Given the description of an element on the screen output the (x, y) to click on. 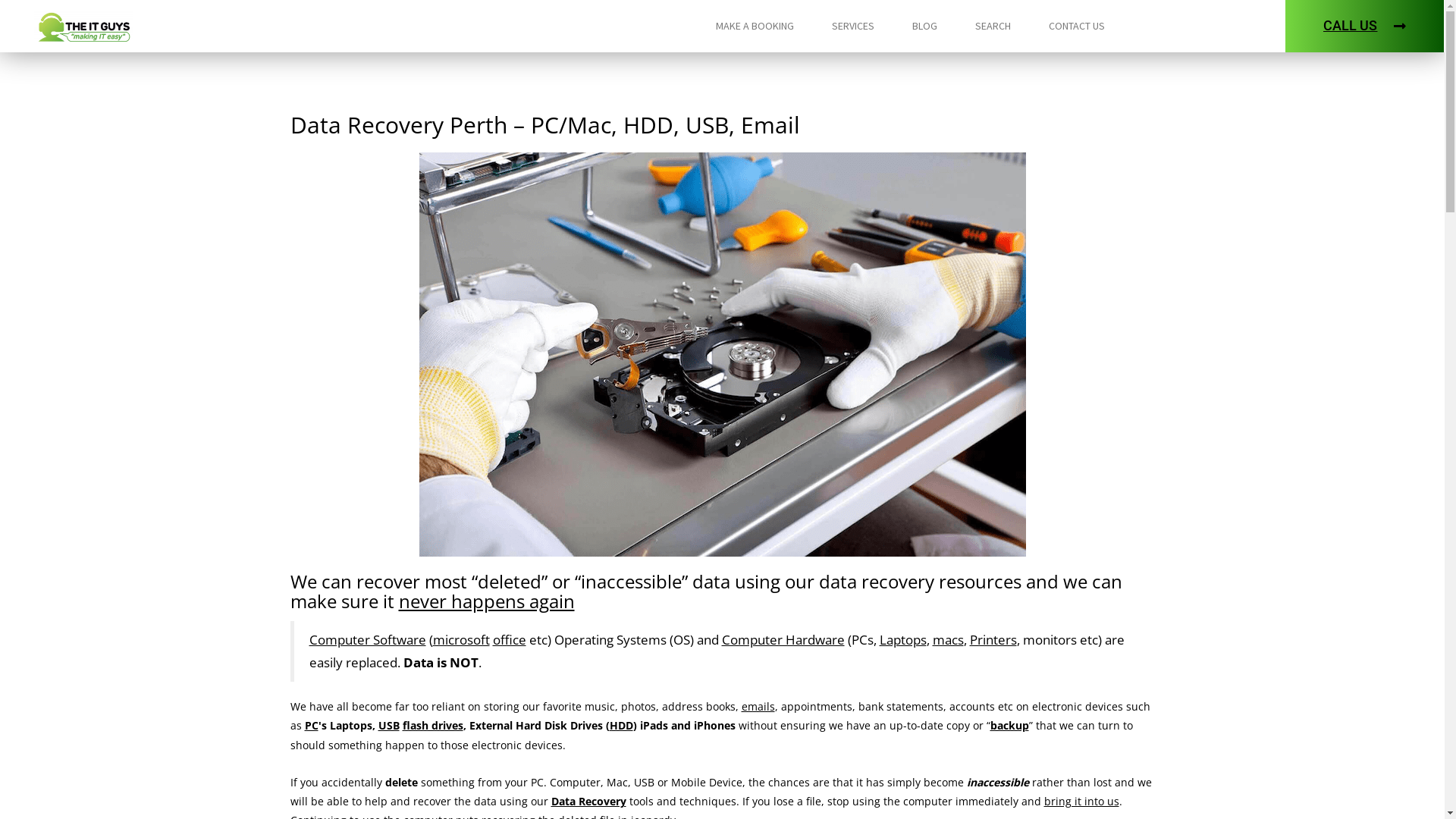
backup Element type: text (1009, 725)
Computer Hardware Element type: text (782, 639)
Data Recovery Element type: text (587, 800)
flash drives Element type: text (431, 725)
CONTACT US Element type: text (1075, 25)
macs Element type: text (947, 639)
emails Element type: text (758, 706)
USB Element type: text (387, 725)
MAKE A BOOKING Element type: text (754, 25)
Computer Software Element type: text (367, 639)
office Element type: text (509, 639)
HDD Element type: text (621, 725)
microsoft Element type: text (460, 639)
Printers Element type: text (992, 639)
SERVICES Element type: text (851, 25)
CALL US Element type: text (1364, 26)
PC Element type: text (311, 725)
bring it into us Element type: text (1080, 800)
never happens again Element type: text (486, 600)
Laptops Element type: text (902, 639)
SEARCH Element type: text (993, 25)
BLOG Element type: text (923, 25)
